Given the description of an element on the screen output the (x, y) to click on. 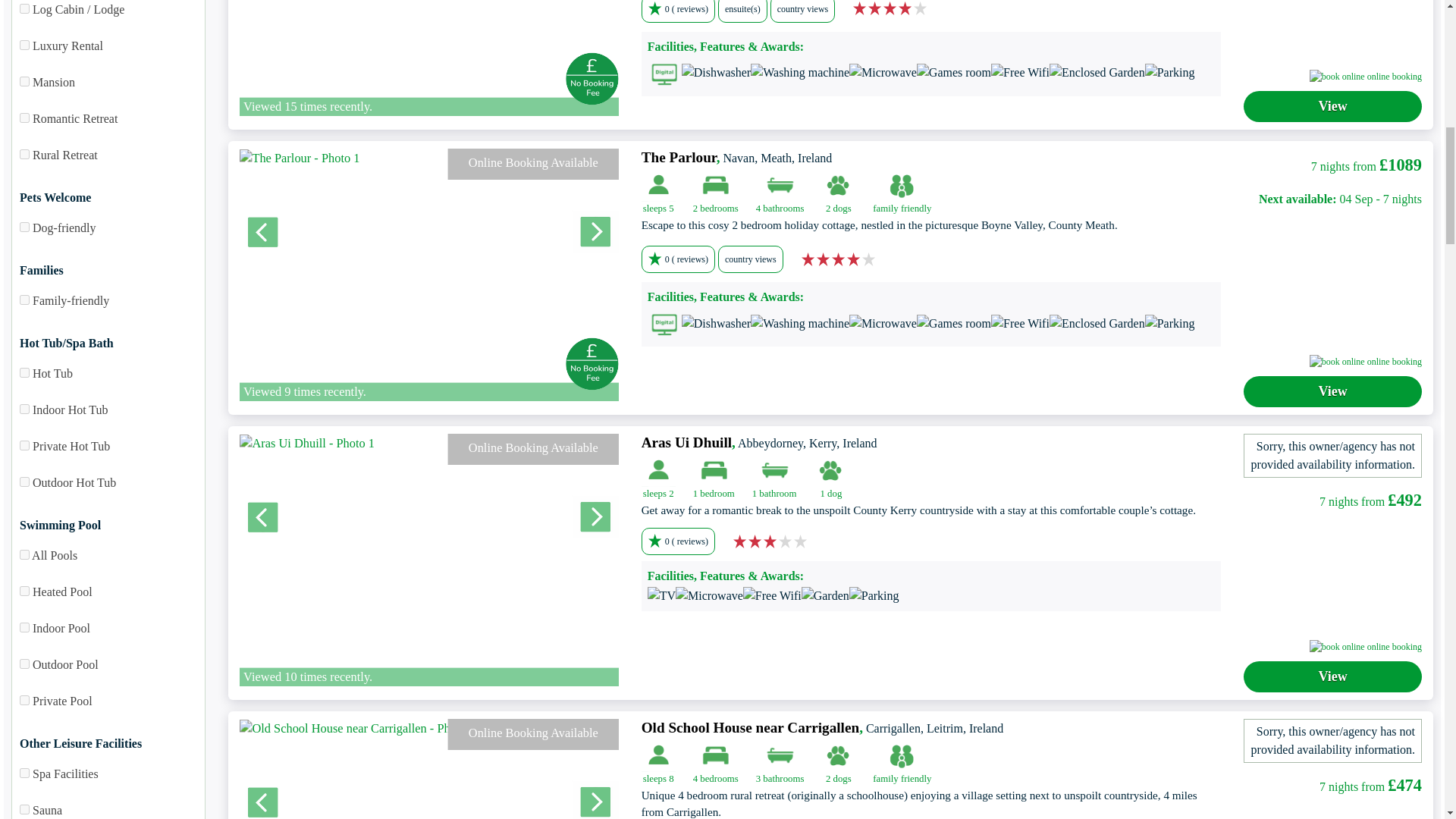
1 (24, 153)
1 (24, 117)
1 (24, 8)
1 (24, 44)
1 (24, 81)
